Given the description of an element on the screen output the (x, y) to click on. 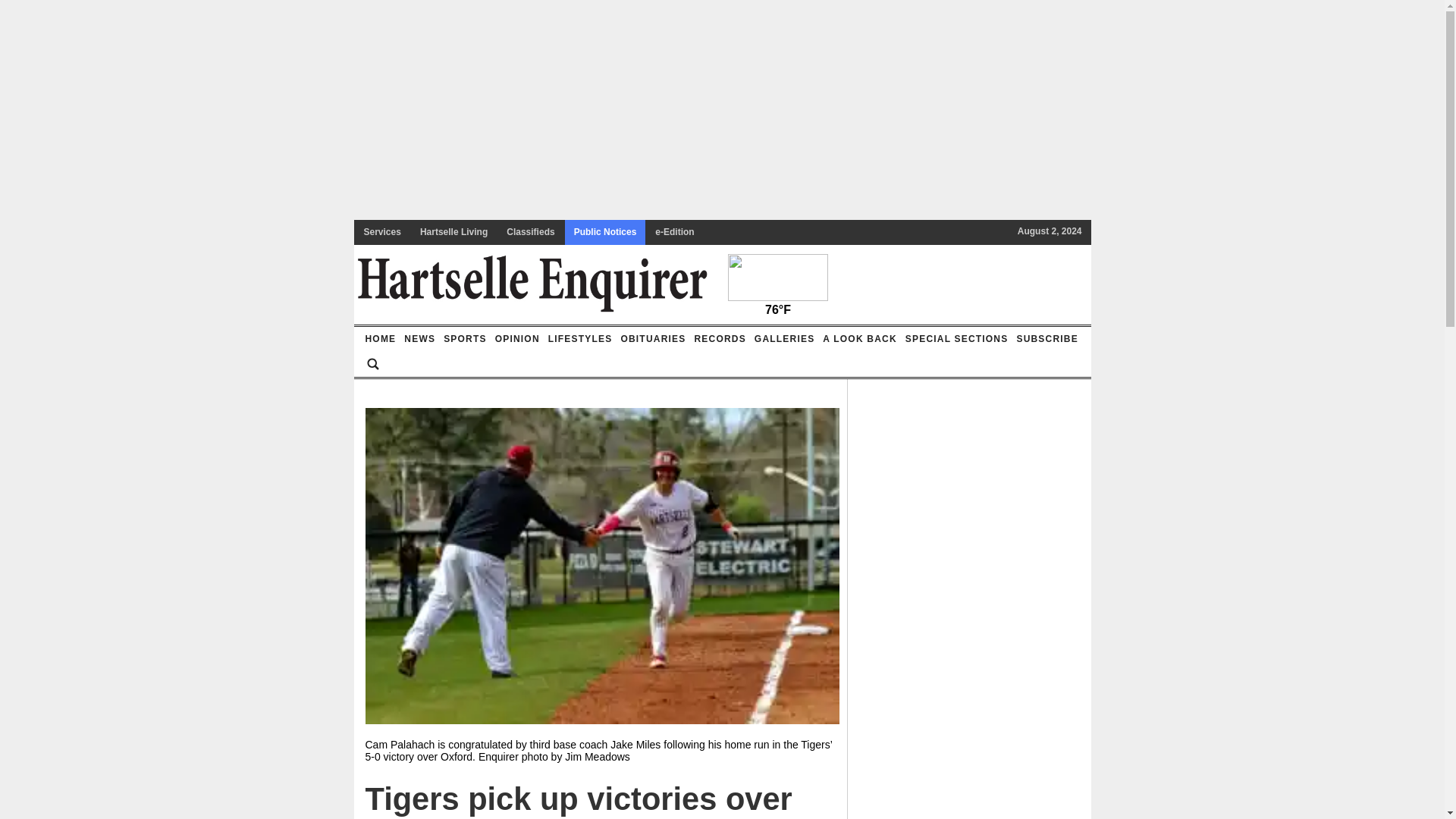
Hartselle Living (453, 232)
Classifieds (530, 232)
Services (382, 232)
e-Edition (674, 232)
Public Notices (605, 232)
